Given the description of an element on the screen output the (x, y) to click on. 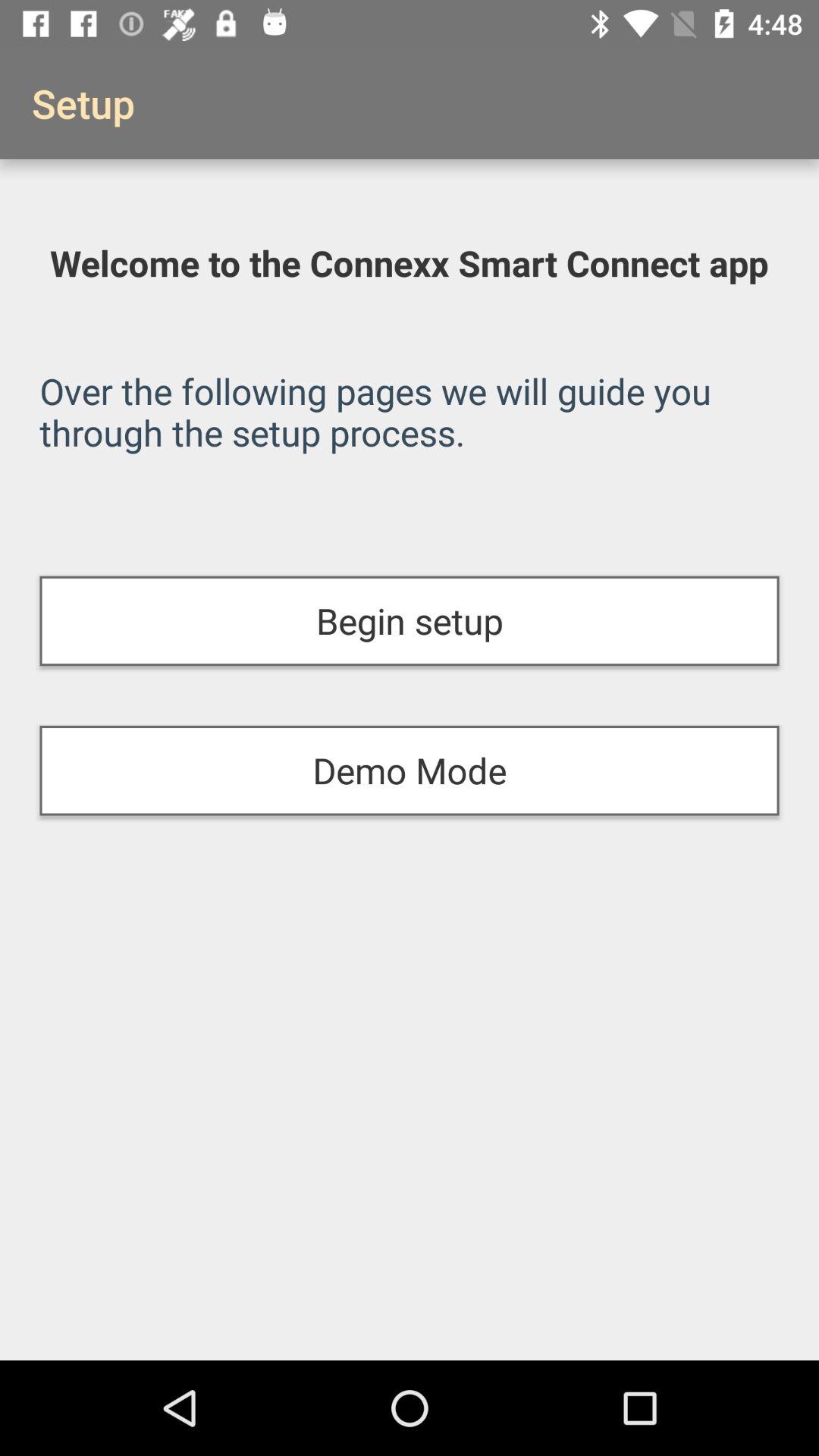
swipe to the demo mode (409, 770)
